Given the description of an element on the screen output the (x, y) to click on. 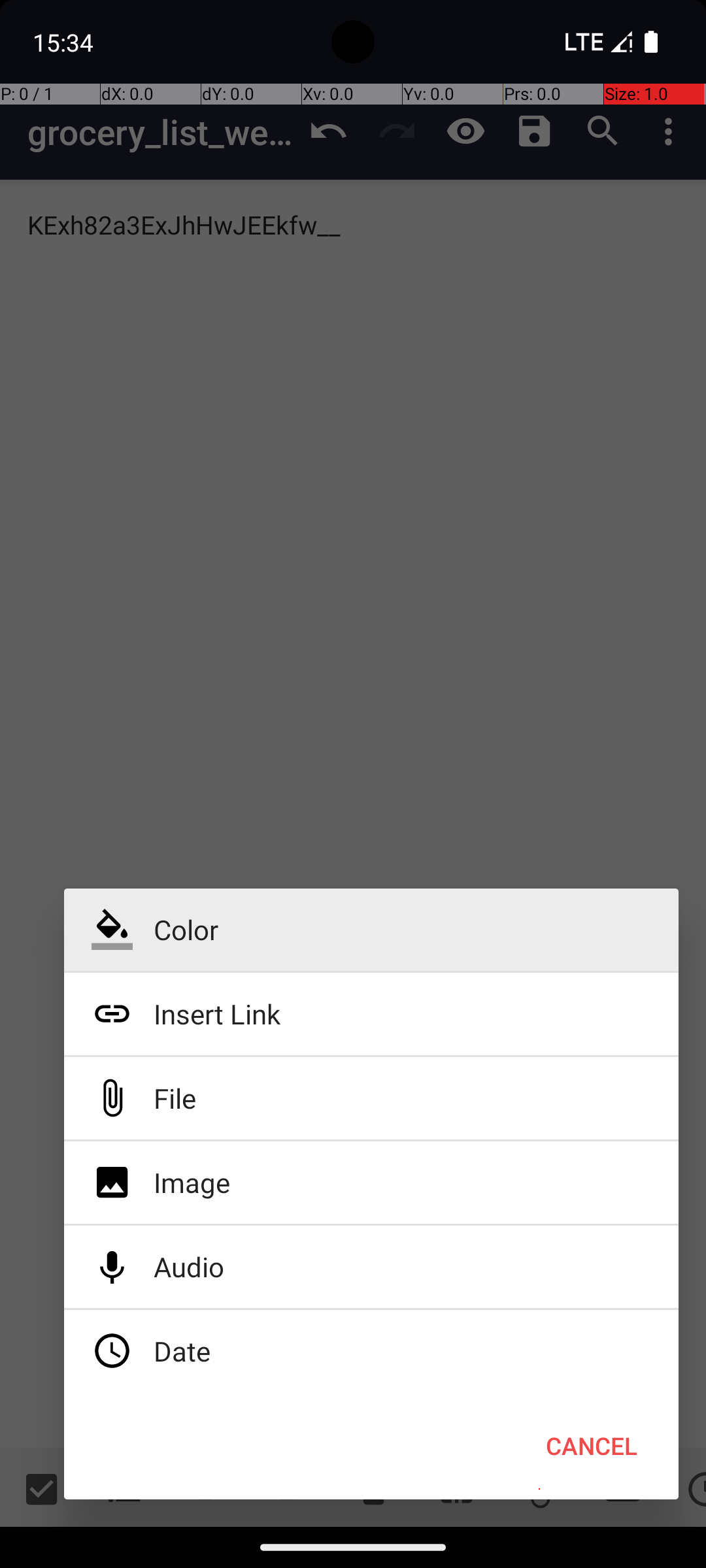
Color Element type: android.widget.TextView (371, 929)
Insert Link Element type: android.widget.TextView (371, 1013)
File Element type: android.widget.TextView (371, 1098)
Image Element type: android.widget.TextView (371, 1182)
